Given the description of an element on the screen output the (x, y) to click on. 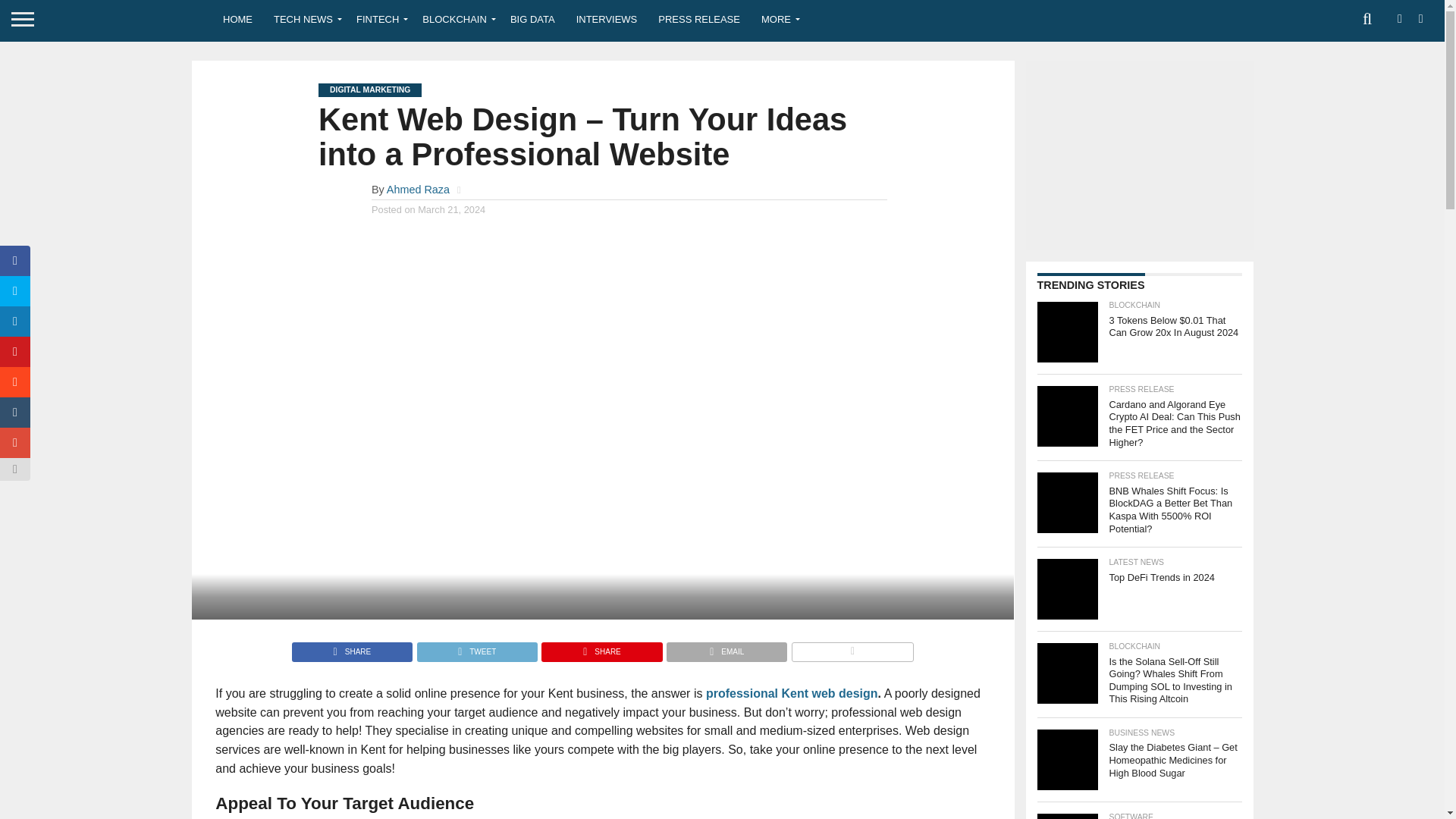
Share on Facebook (352, 647)
Tweet This Post (476, 647)
Posts by Ahmed Raza (418, 189)
Pin This Post (601, 647)
